Given the description of an element on the screen output the (x, y) to click on. 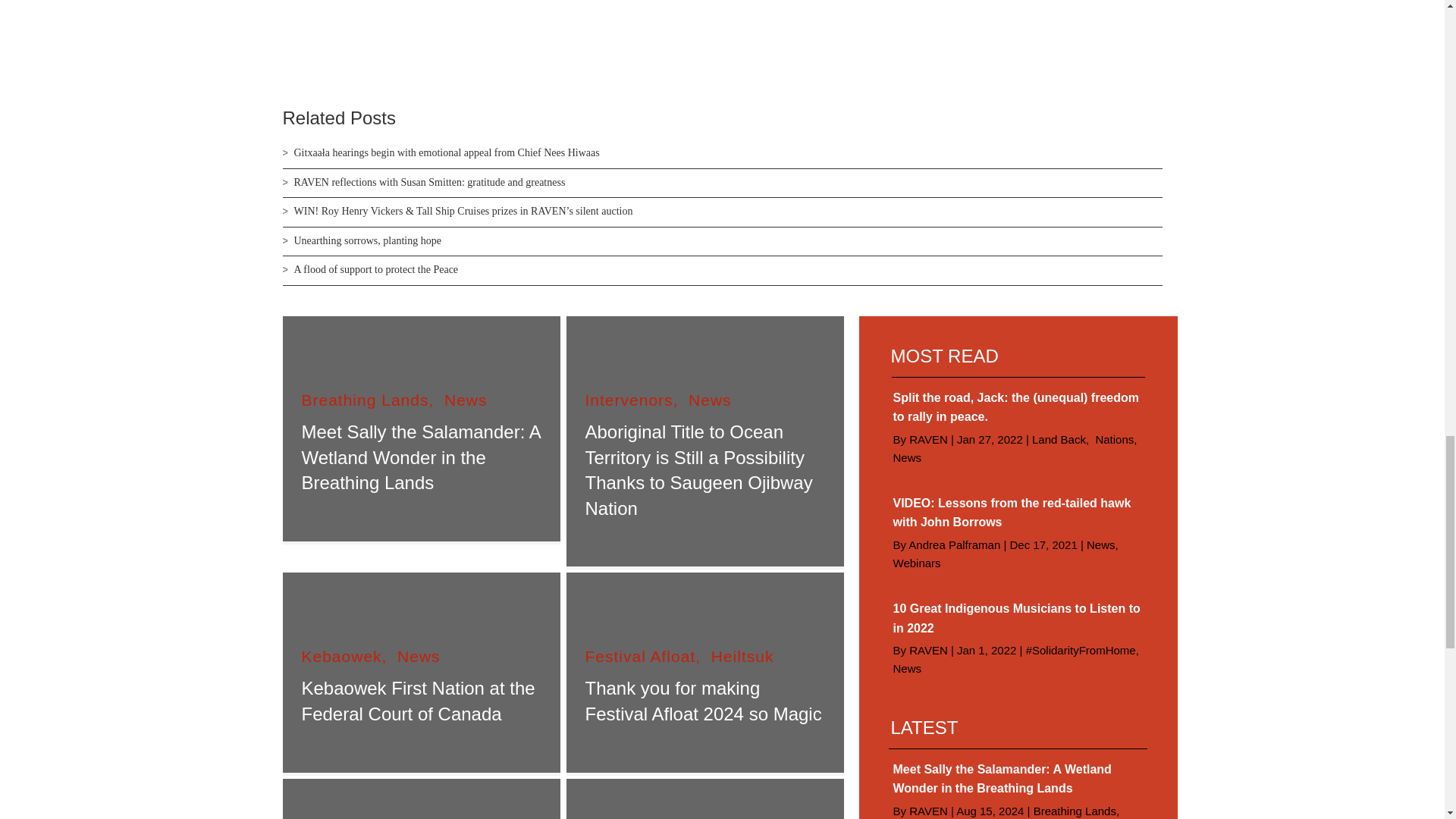
Kebaowek First Nation at the Federal Court of Canada (418, 700)
A flood of support to protect the Peace (376, 269)
Unearthing sorrows, planting hope (367, 240)
